Given the description of an element on the screen output the (x, y) to click on. 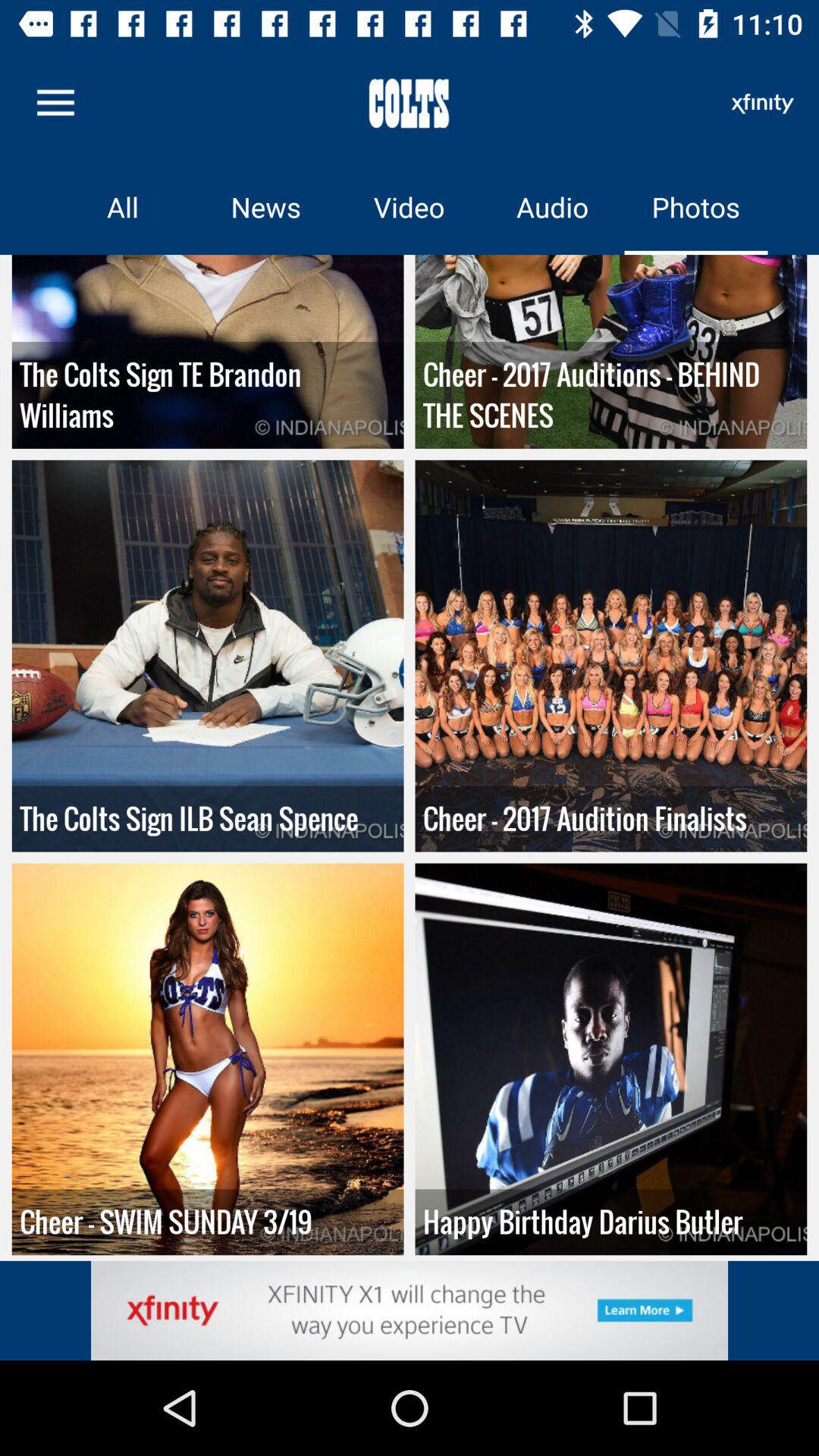
view the advertisement (409, 1310)
